Given the description of an element on the screen output the (x, y) to click on. 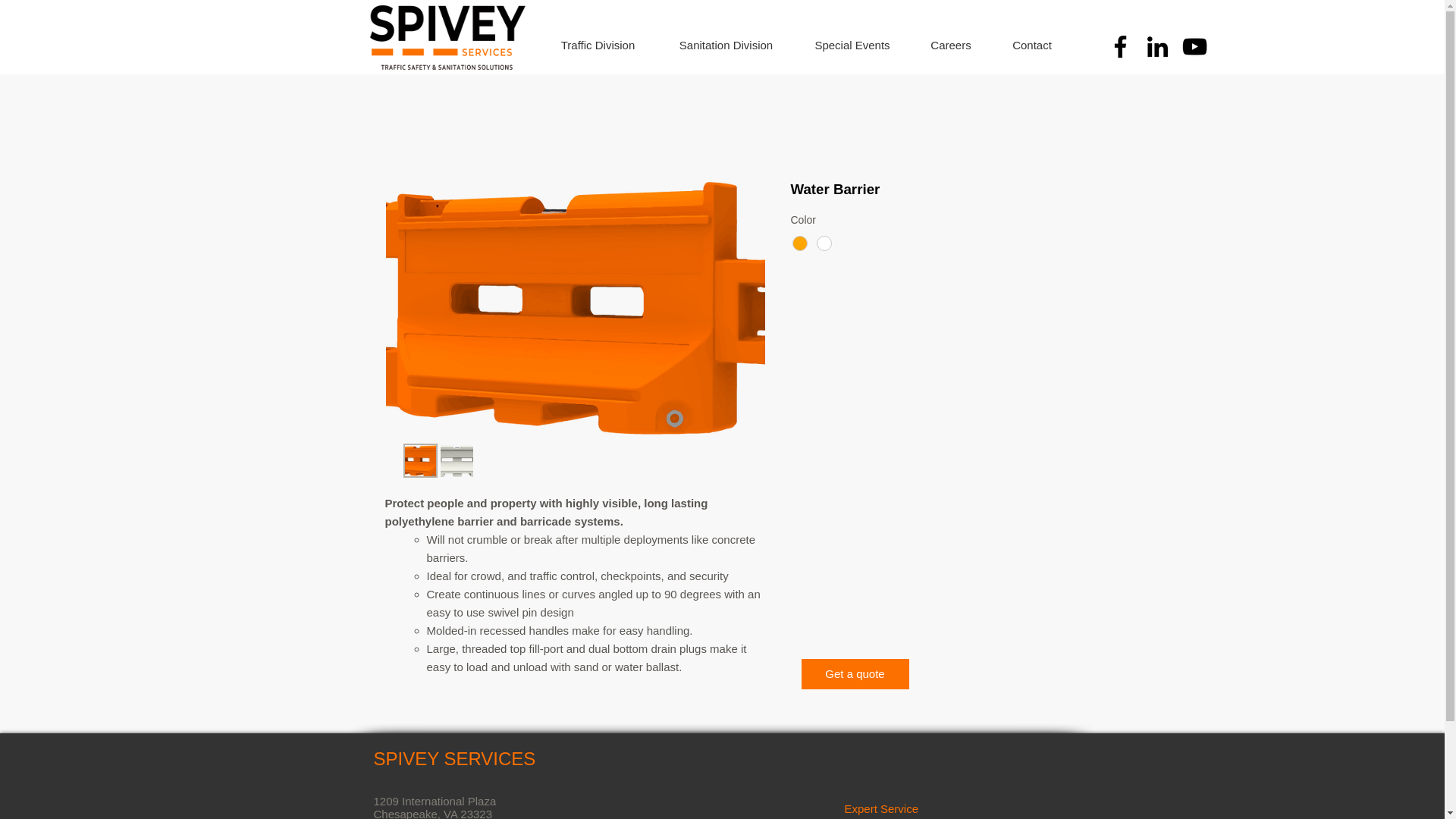
Traffic Division (598, 45)
Special Events (852, 45)
SPIVEY SERVICES (453, 758)
Contact (1032, 45)
Expert Service (881, 808)
Careers (950, 45)
